Given the description of an element on the screen output the (x, y) to click on. 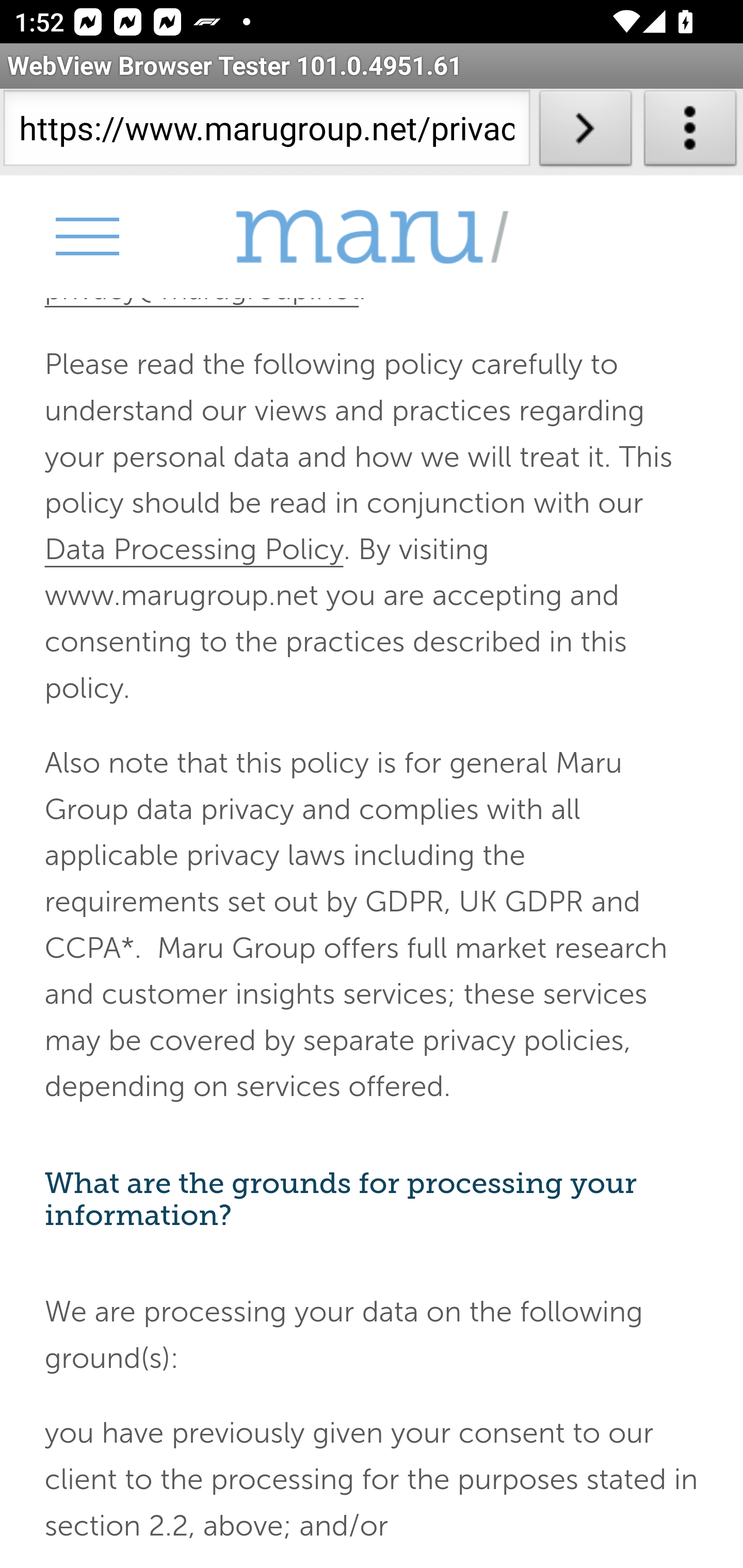
https://www.marugroup.net/privacy-policy (266, 132)
Load URL (585, 132)
About WebView (690, 132)
Open Menu (86, 236)
Maru Group (371, 236)
Data Processing Policy (193, 548)
